Given the description of an element on the screen output the (x, y) to click on. 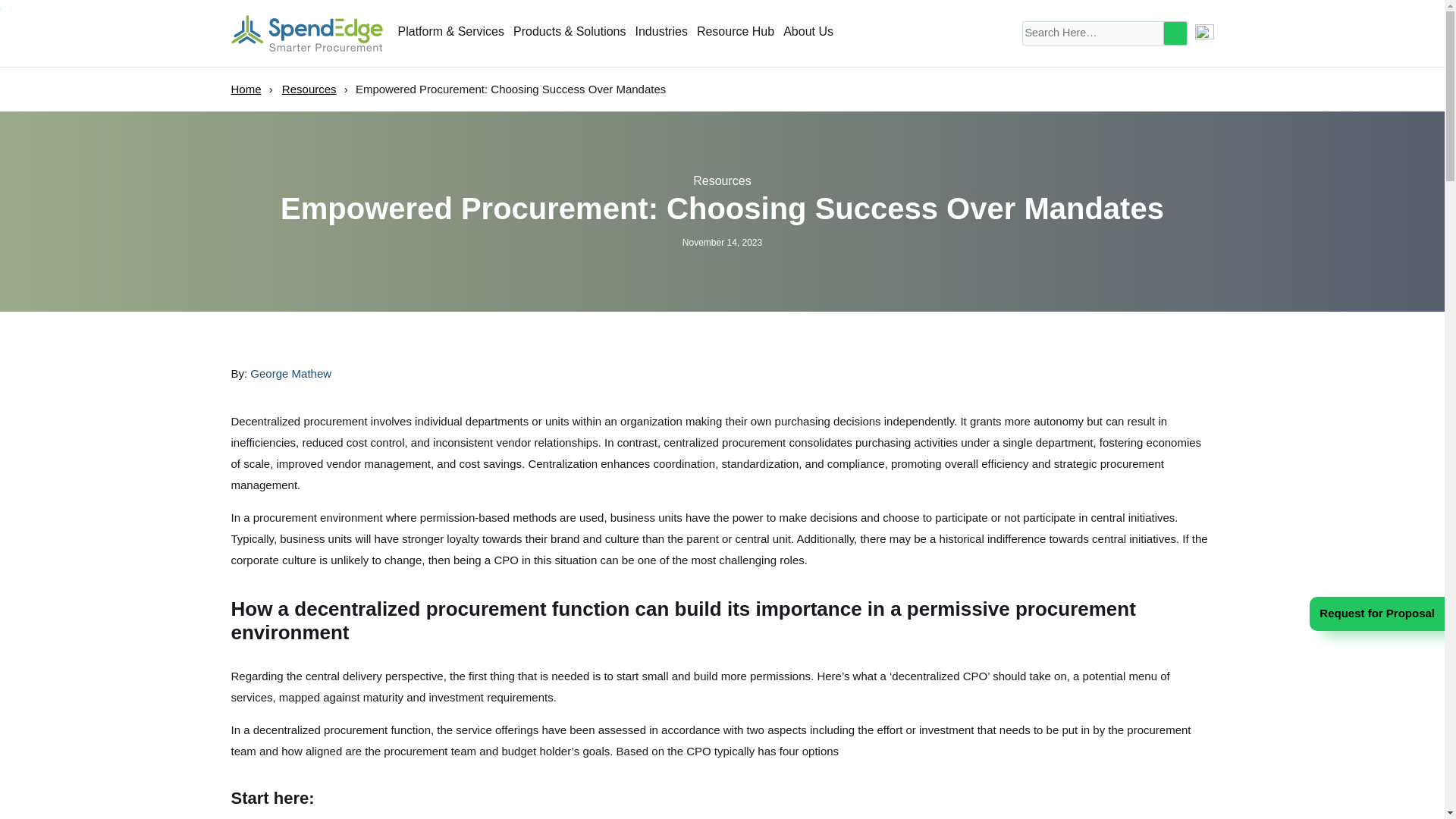
Search (1175, 33)
Search (1175, 33)
Contact Us (1201, 32)
